Given the description of an element on the screen output the (x, y) to click on. 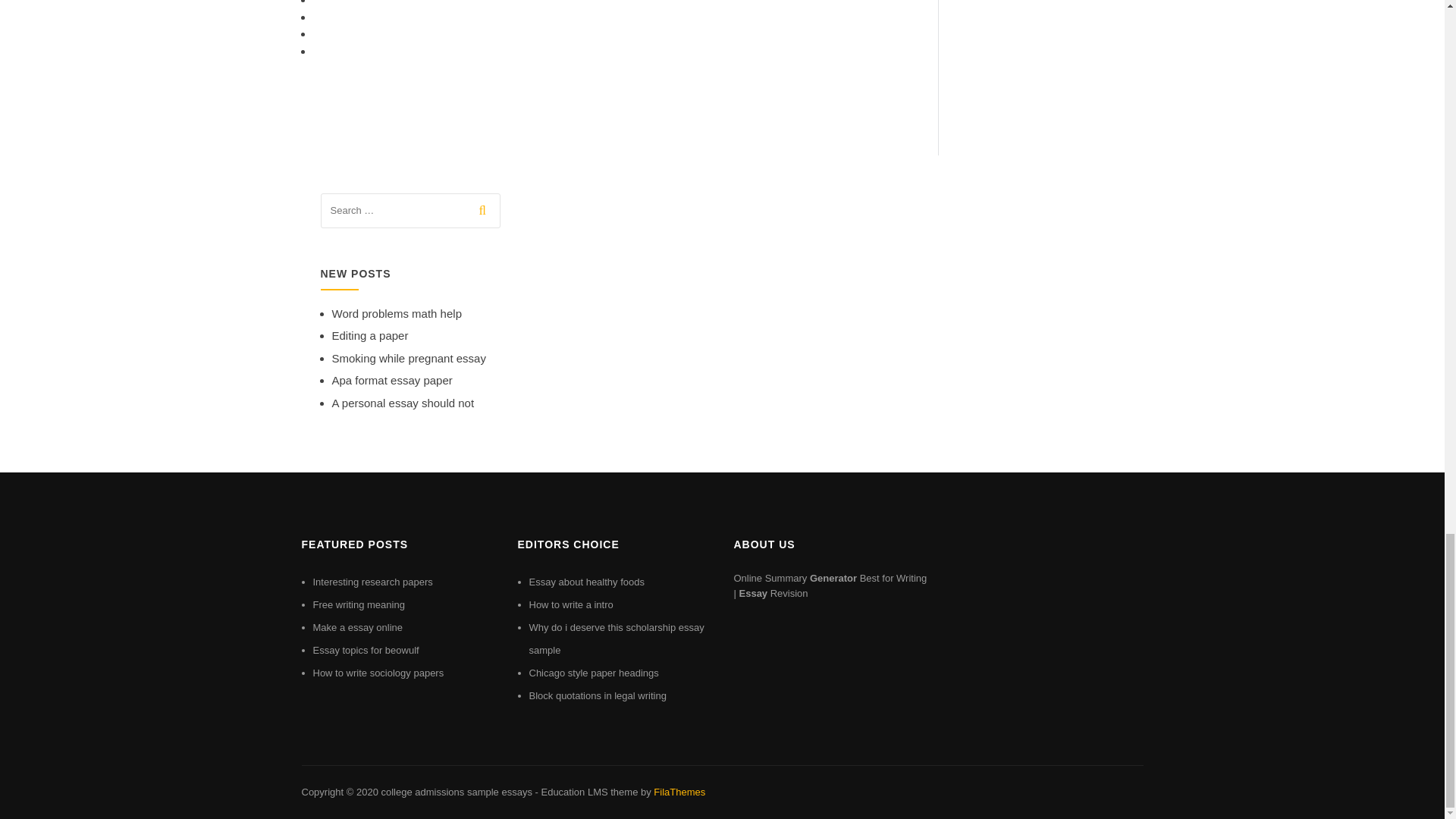
Why do i deserve this scholarship essay sample (616, 638)
Chicago style paper headings (594, 672)
Free writing meaning (358, 604)
Essay about healthy foods (587, 582)
Word problems math help (396, 313)
Interesting research papers (372, 582)
How to write sociology papers (378, 672)
Block quotations in legal writing (597, 695)
Essay topics for beowulf (366, 650)
college admissions sample essays (455, 791)
Smoking while pregnant essay (408, 358)
How to write a intro (570, 604)
A personal essay should not (402, 402)
Make a essay online (358, 627)
Apa format essay paper (391, 379)
